Given the description of an element on the screen output the (x, y) to click on. 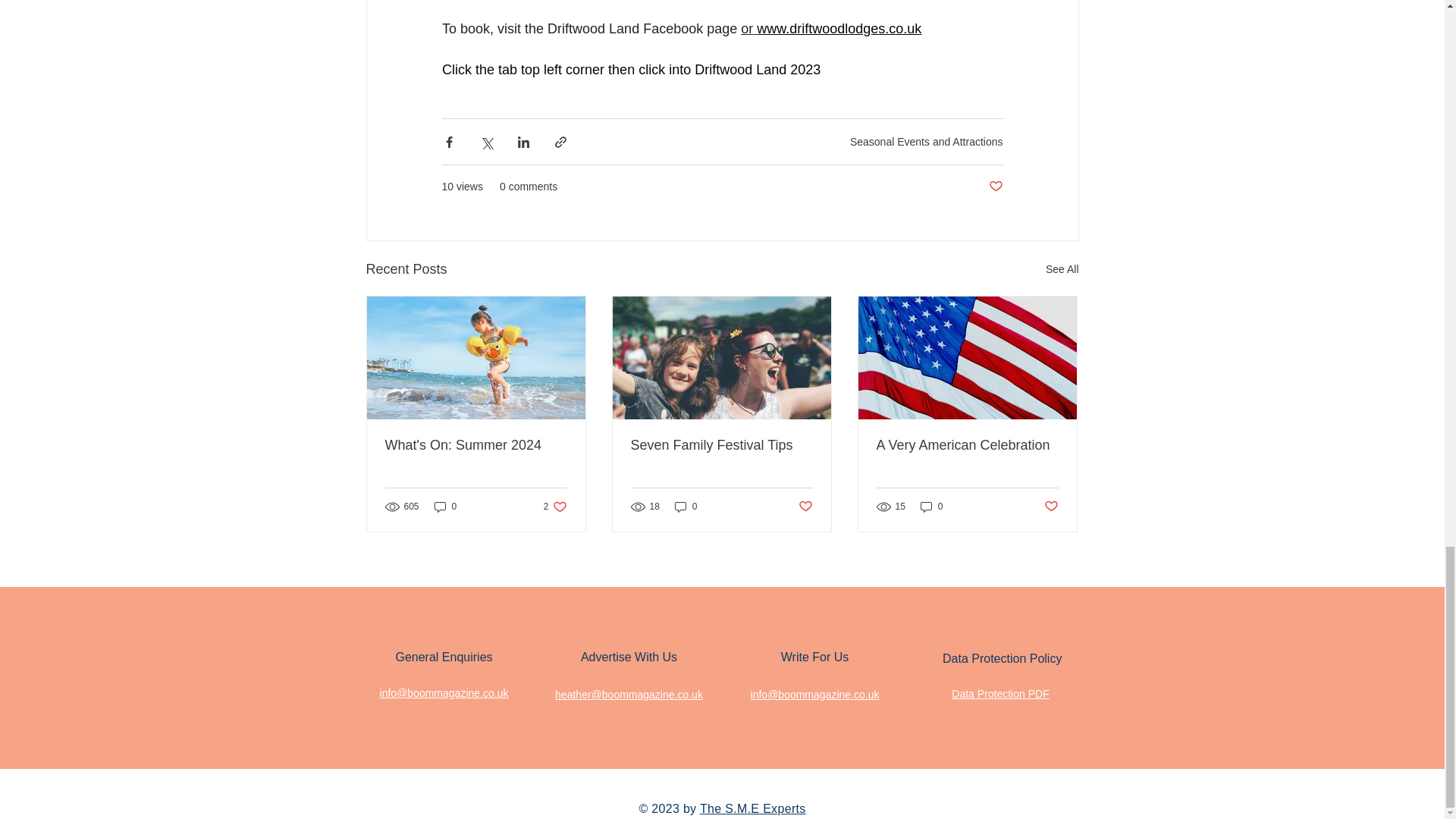
www.driftwoodlodges.co.uk (839, 28)
Seasonal Events and Attractions (926, 141)
Post not marked as liked (995, 186)
See All (1061, 269)
